Given the description of an element on the screen output the (x, y) to click on. 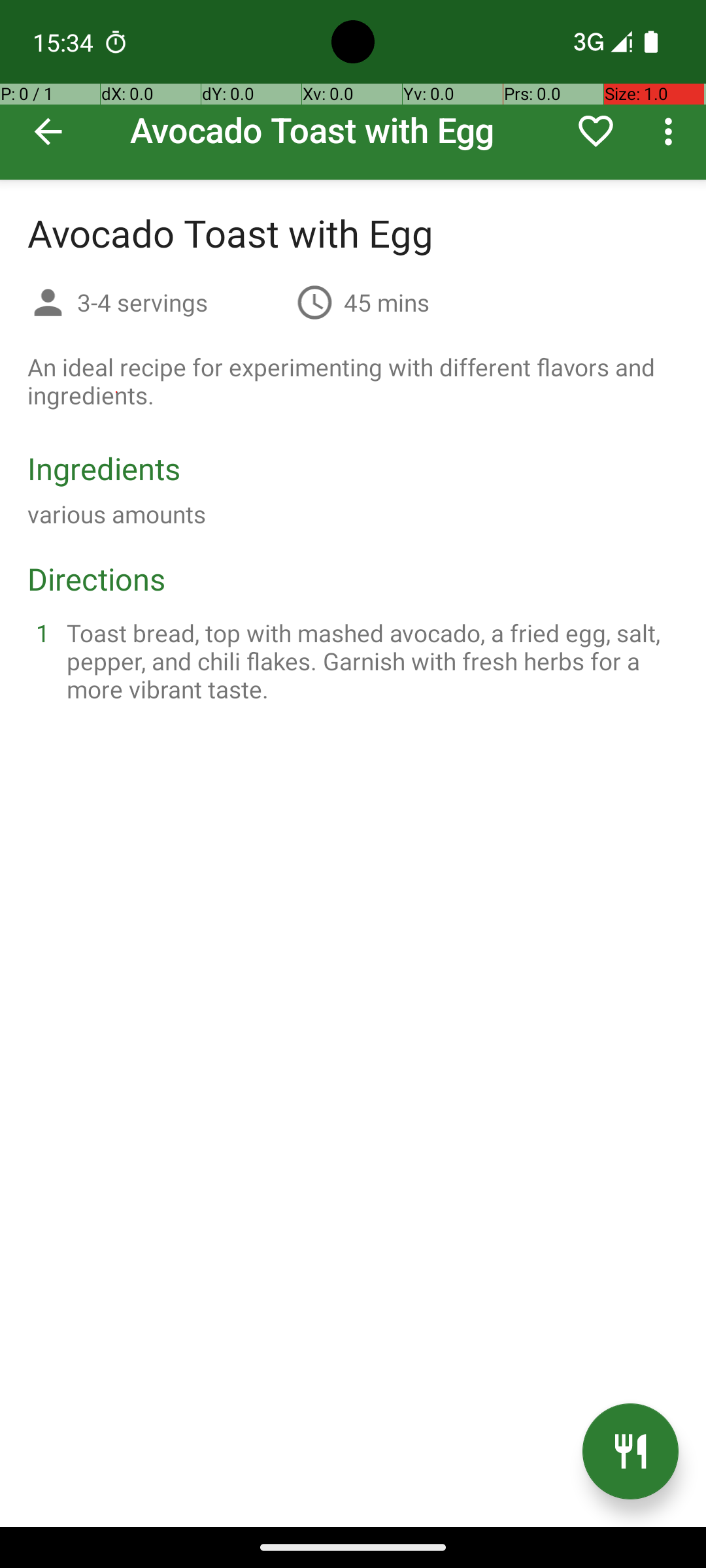
Toast bread, top with mashed avocado, a fried egg, salt, pepper, and chili flakes. Garnish with fresh herbs for a more vibrant taste. Element type: android.widget.TextView (368, 660)
